Given the description of an element on the screen output the (x, y) to click on. 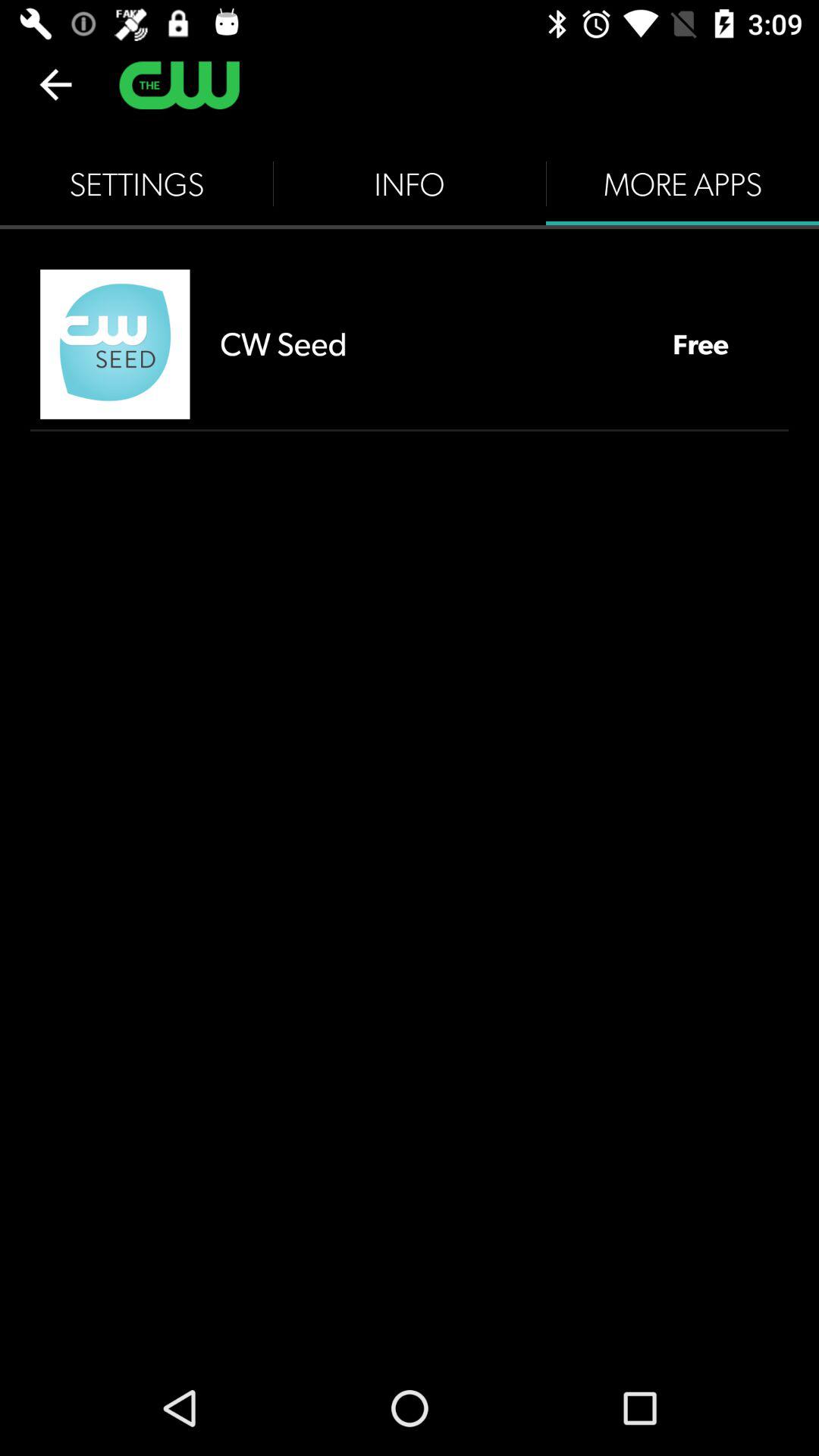
click the icon next to cw seed item (114, 344)
